Given the description of an element on the screen output the (x, y) to click on. 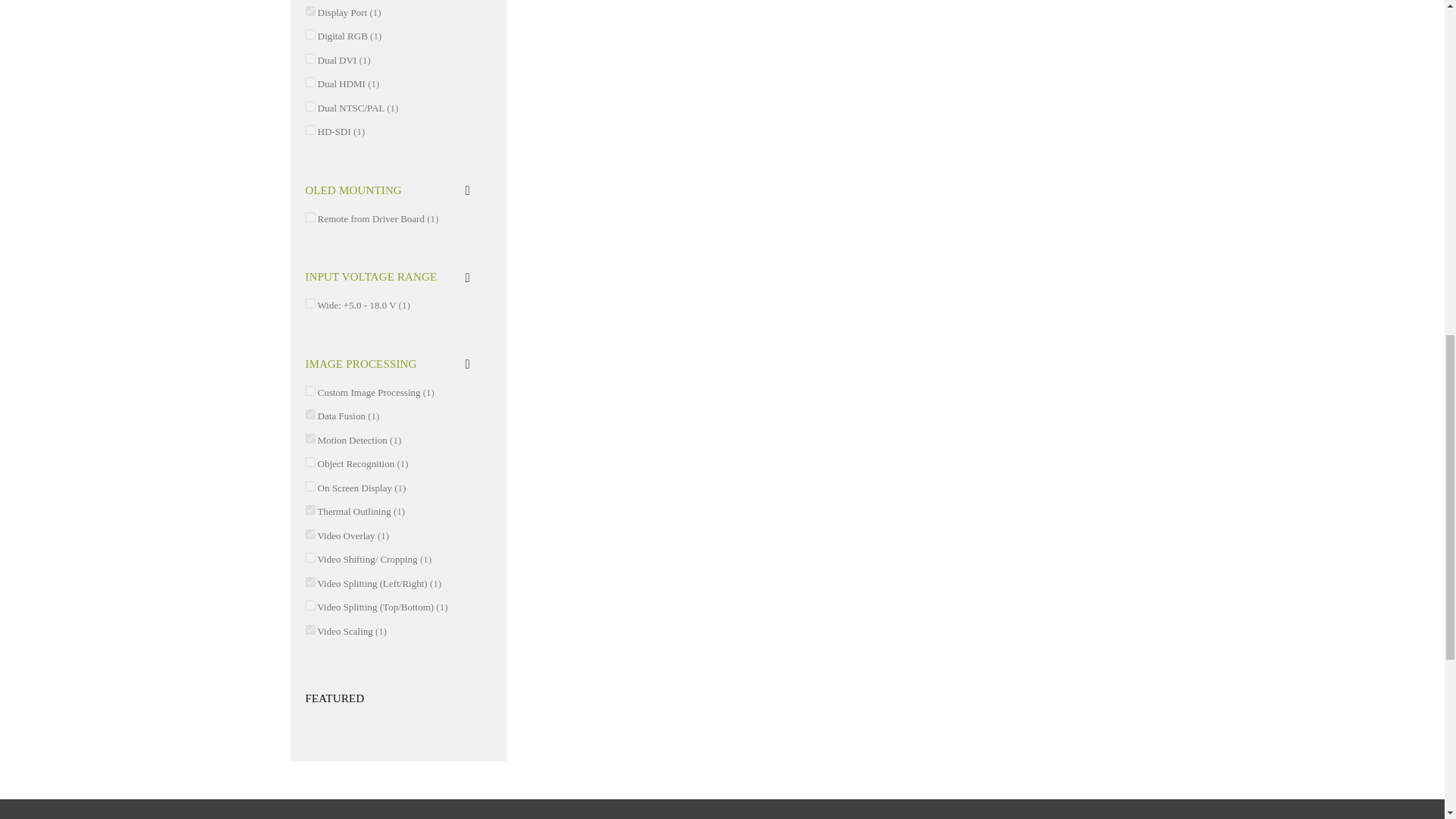
on (309, 486)
on (309, 130)
on (309, 216)
on (309, 58)
on (309, 414)
on (309, 390)
on (309, 438)
on (309, 34)
on (309, 10)
on (309, 106)
on (309, 303)
on (309, 461)
on (309, 81)
